Given the description of an element on the screen output the (x, y) to click on. 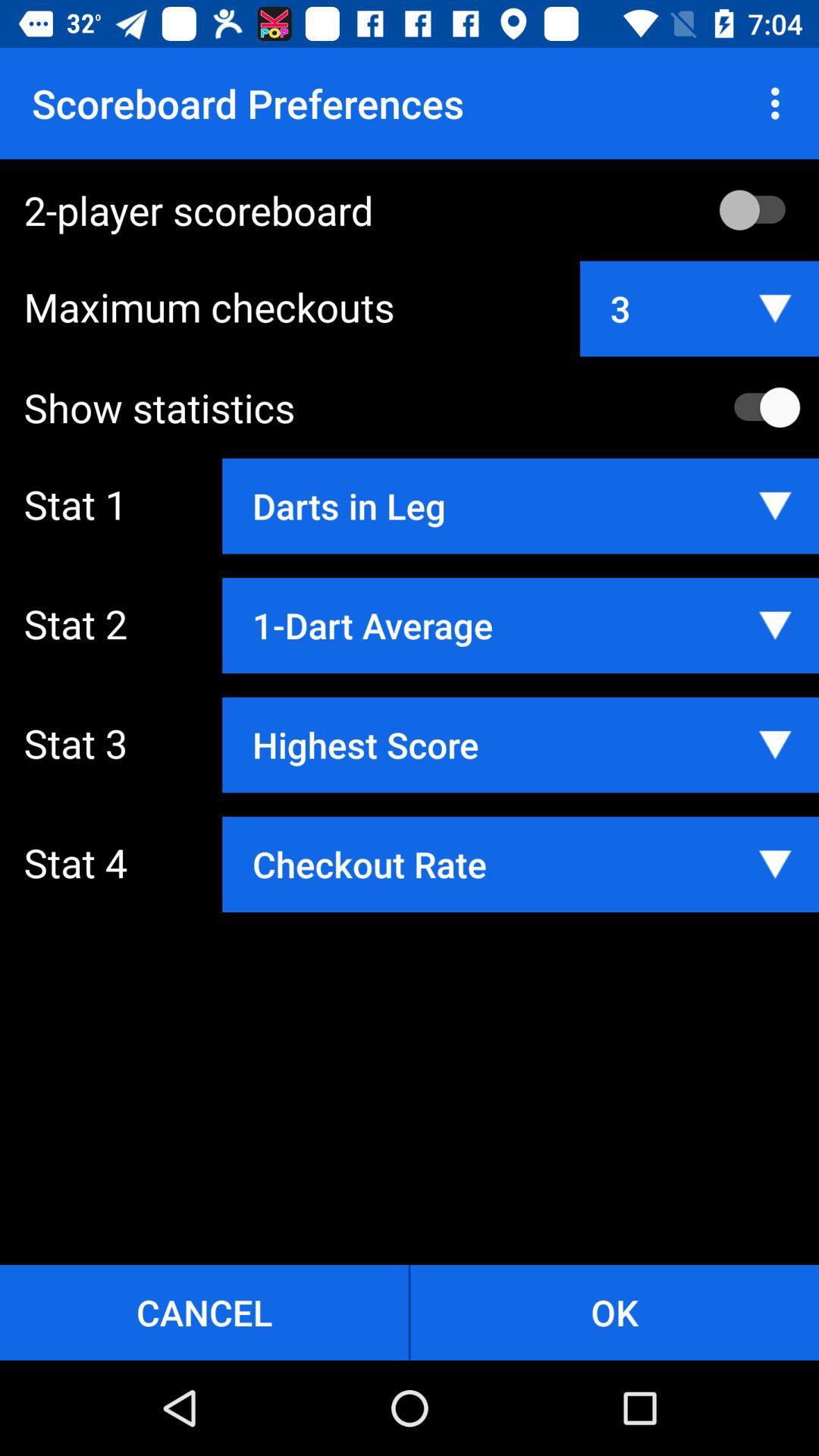
press the app next to scoreboard preferences item (779, 103)
